Given the description of an element on the screen output the (x, y) to click on. 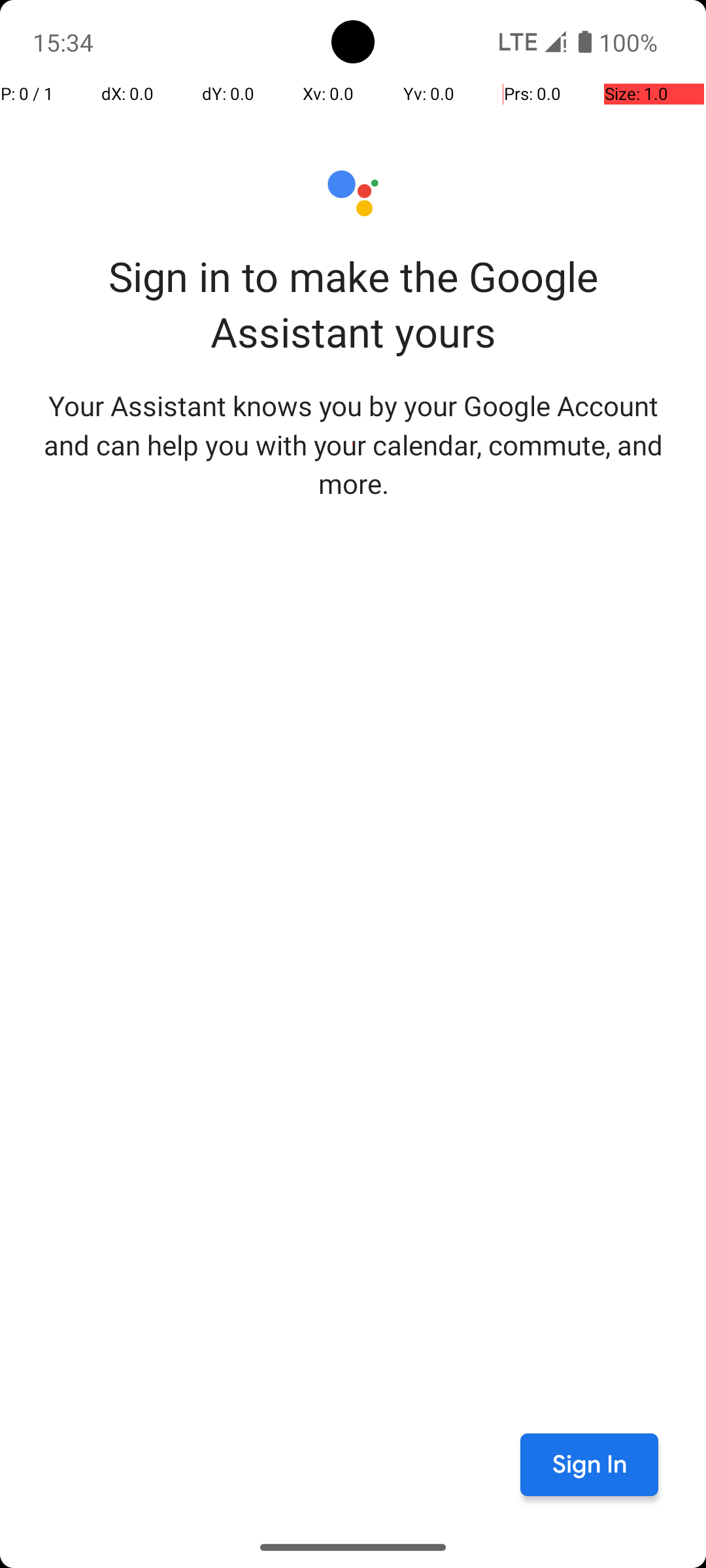
Sign In Element type: android.widget.Button (588, 1464)
Sign in to make the Google Assistant yours Element type: android.widget.TextView (352, 303)
Your Assistant knows you by your Google Account and can help you with your calendar, commute, and more. Element type: android.widget.TextView (352, 443)
